Given the description of an element on the screen output the (x, y) to click on. 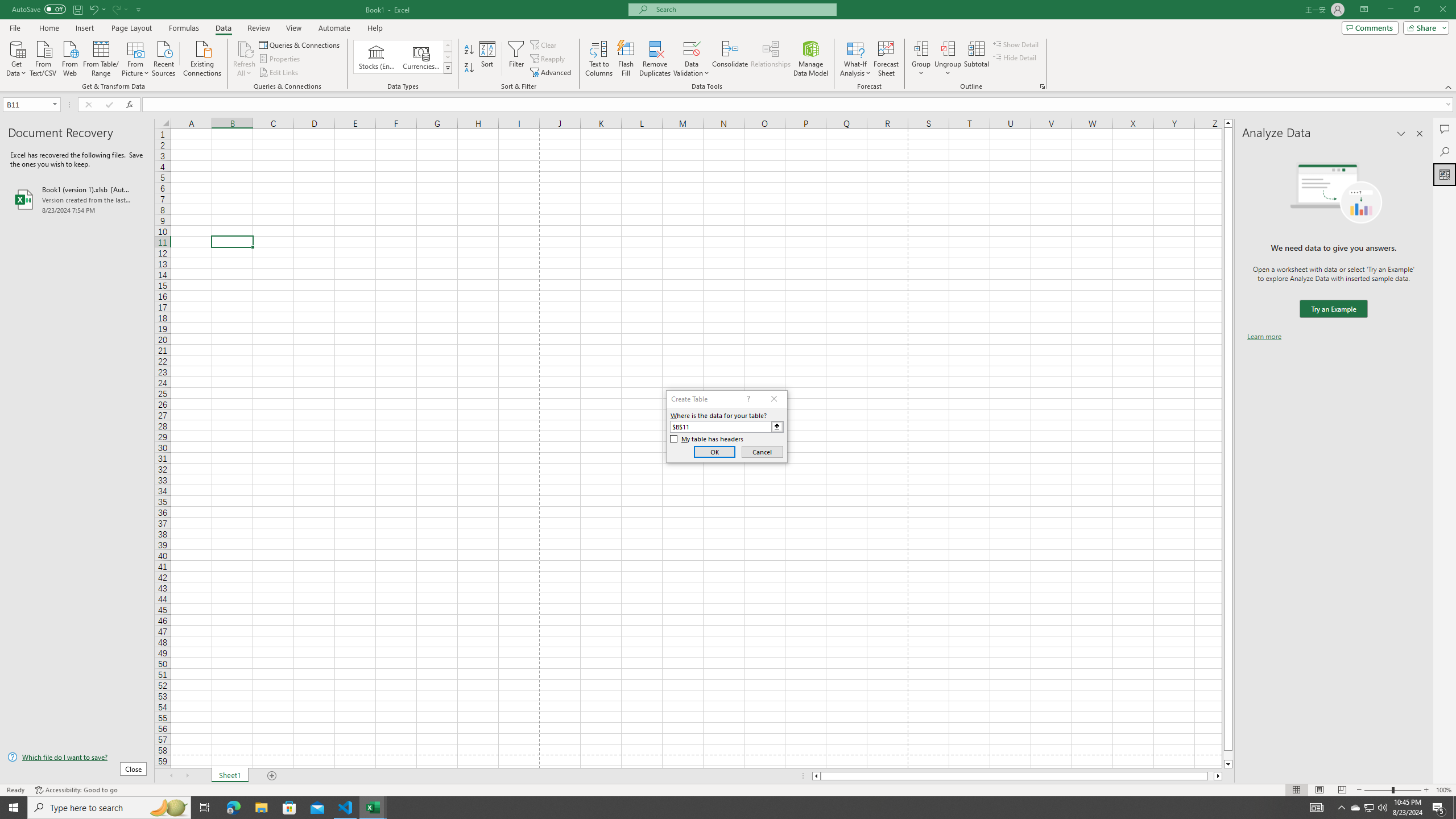
Subtotal (976, 58)
Reapply (548, 58)
Recent Sources (163, 57)
Relationships (770, 58)
